Given the description of an element on the screen output the (x, y) to click on. 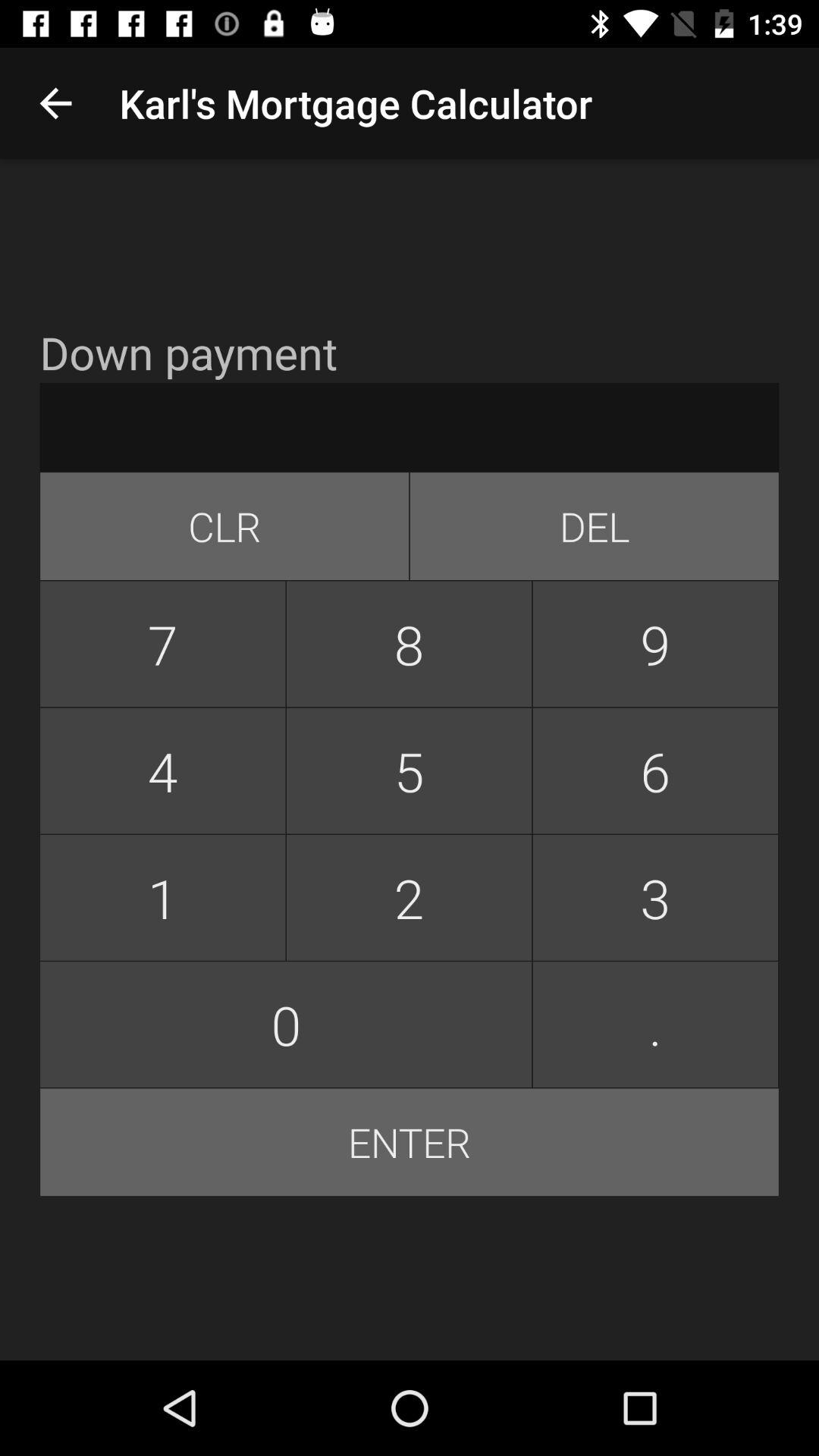
swipe until 0 icon (285, 1024)
